Given the description of an element on the screen output the (x, y) to click on. 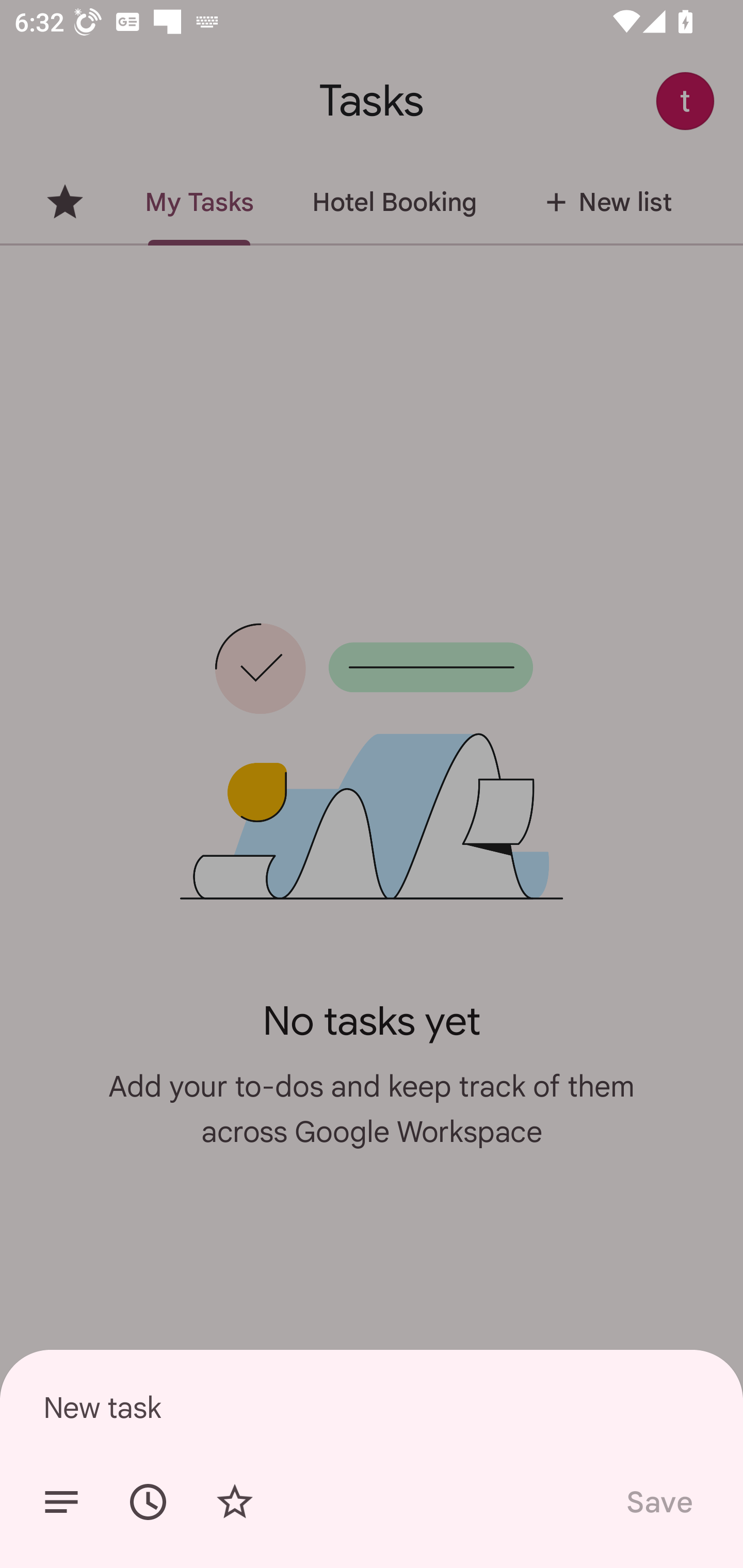
New task (371, 1407)
Save (659, 1501)
Add details (60, 1501)
Set date/time (147, 1501)
Add star (234, 1501)
